Given the description of an element on the screen output the (x, y) to click on. 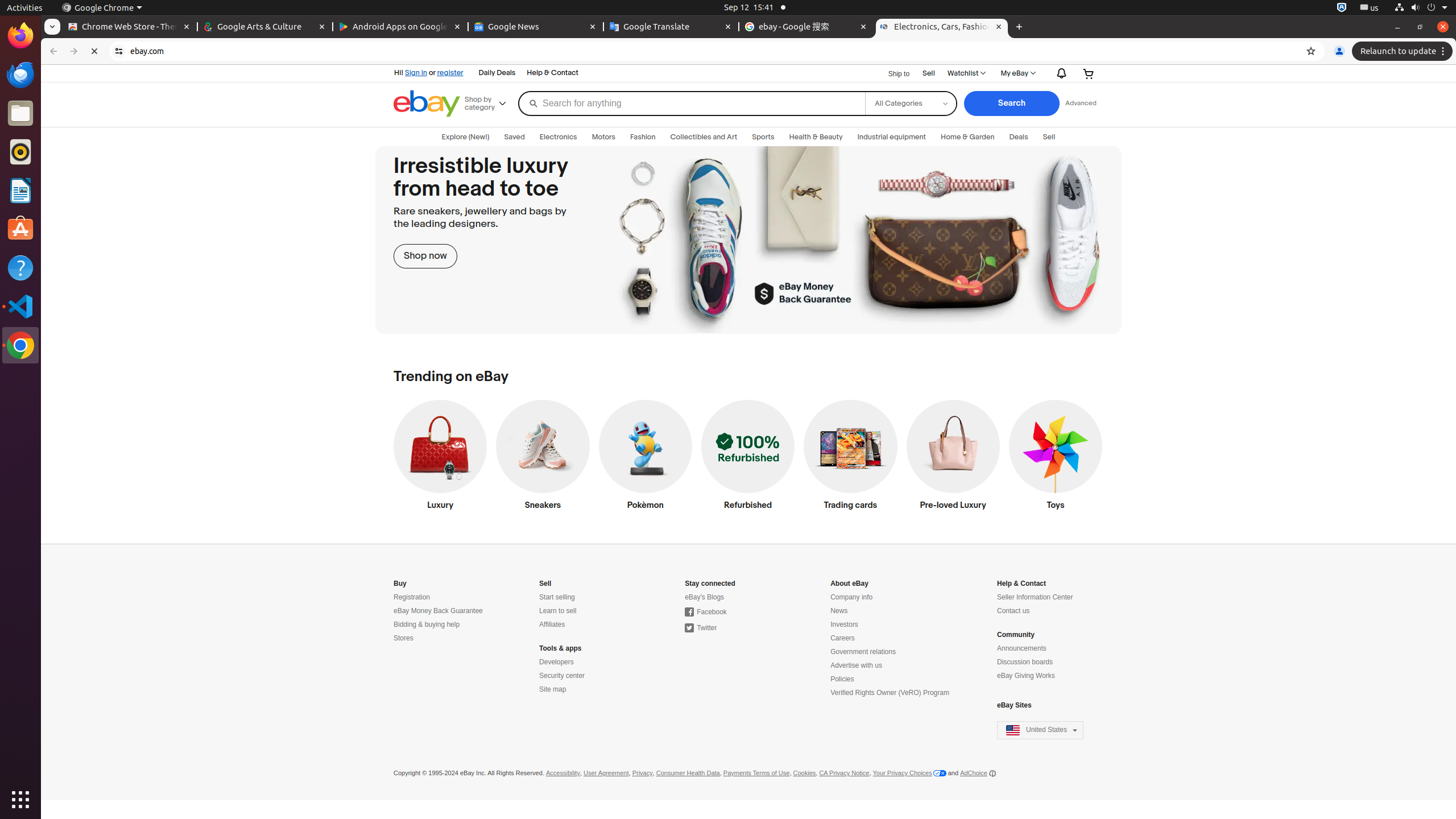
Twitter Element type: link (700, 628)
AdChoice Element type: link (977, 773)
Search for anything Element type: combo-box (690, 103)
Privacy Element type: link (641, 773)
Payments Terms of Use Element type: link (755, 773)
